Given the description of an element on the screen output the (x, y) to click on. 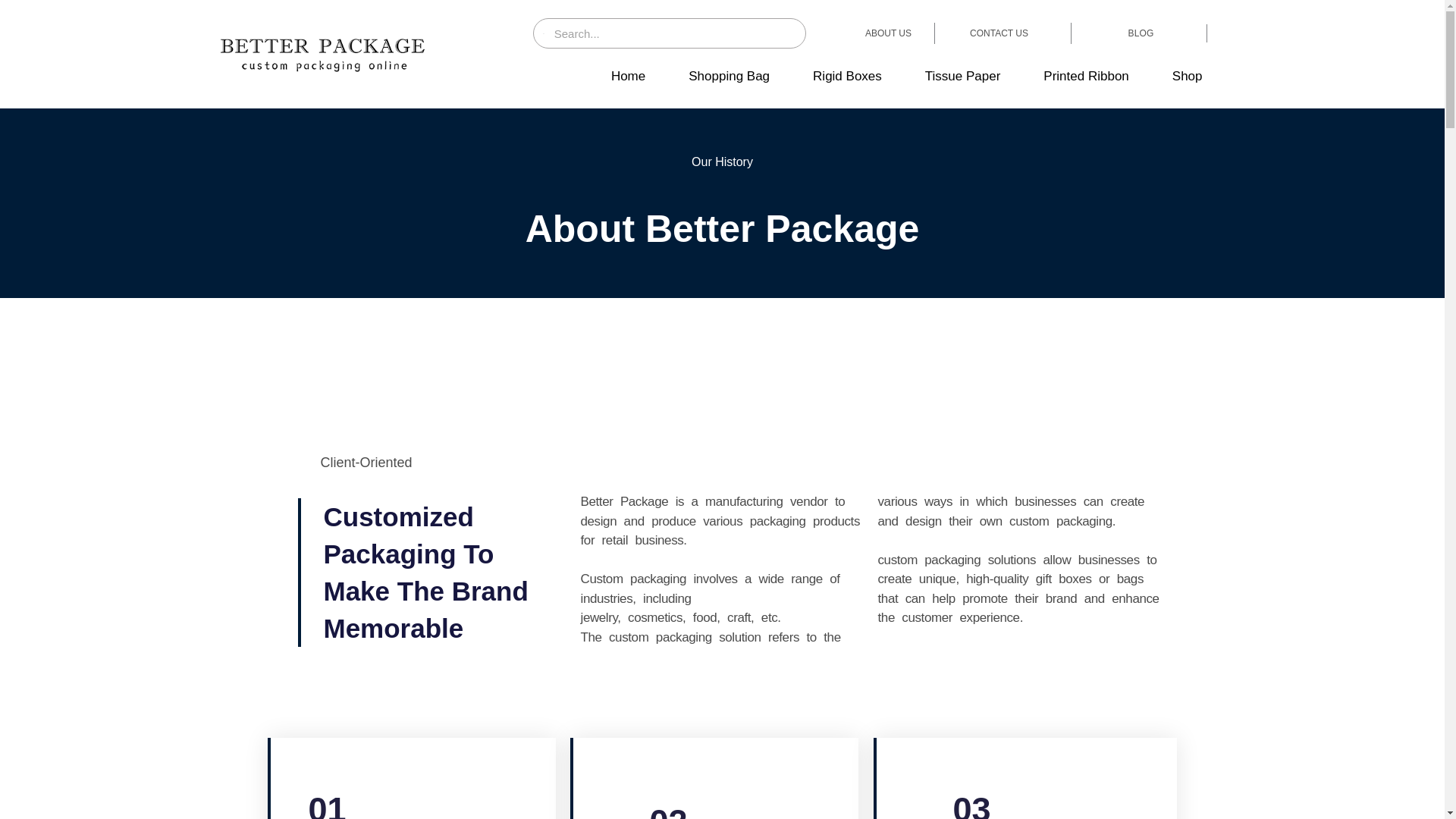
Shop (1186, 75)
ABOUT US (887, 32)
Rigid Boxes (847, 75)
Shopping Bag (729, 75)
Printed Ribbon (1085, 75)
Tissue Paper (962, 75)
BLOG (1141, 32)
CONTACT US (998, 32)
Home (628, 75)
